Given the description of an element on the screen output the (x, y) to click on. 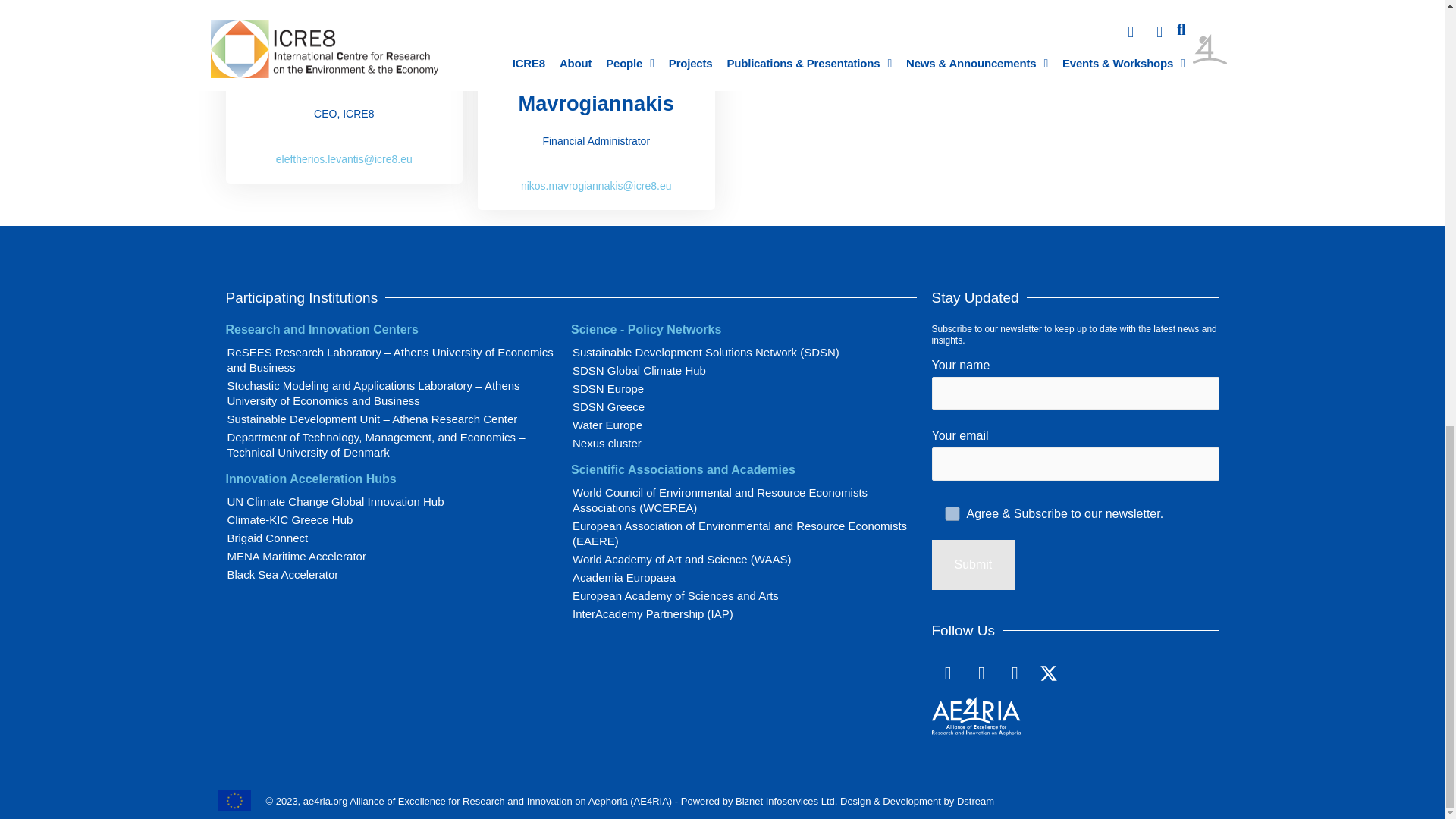
1 (951, 513)
Submit (972, 564)
